Given the description of an element on the screen output the (x, y) to click on. 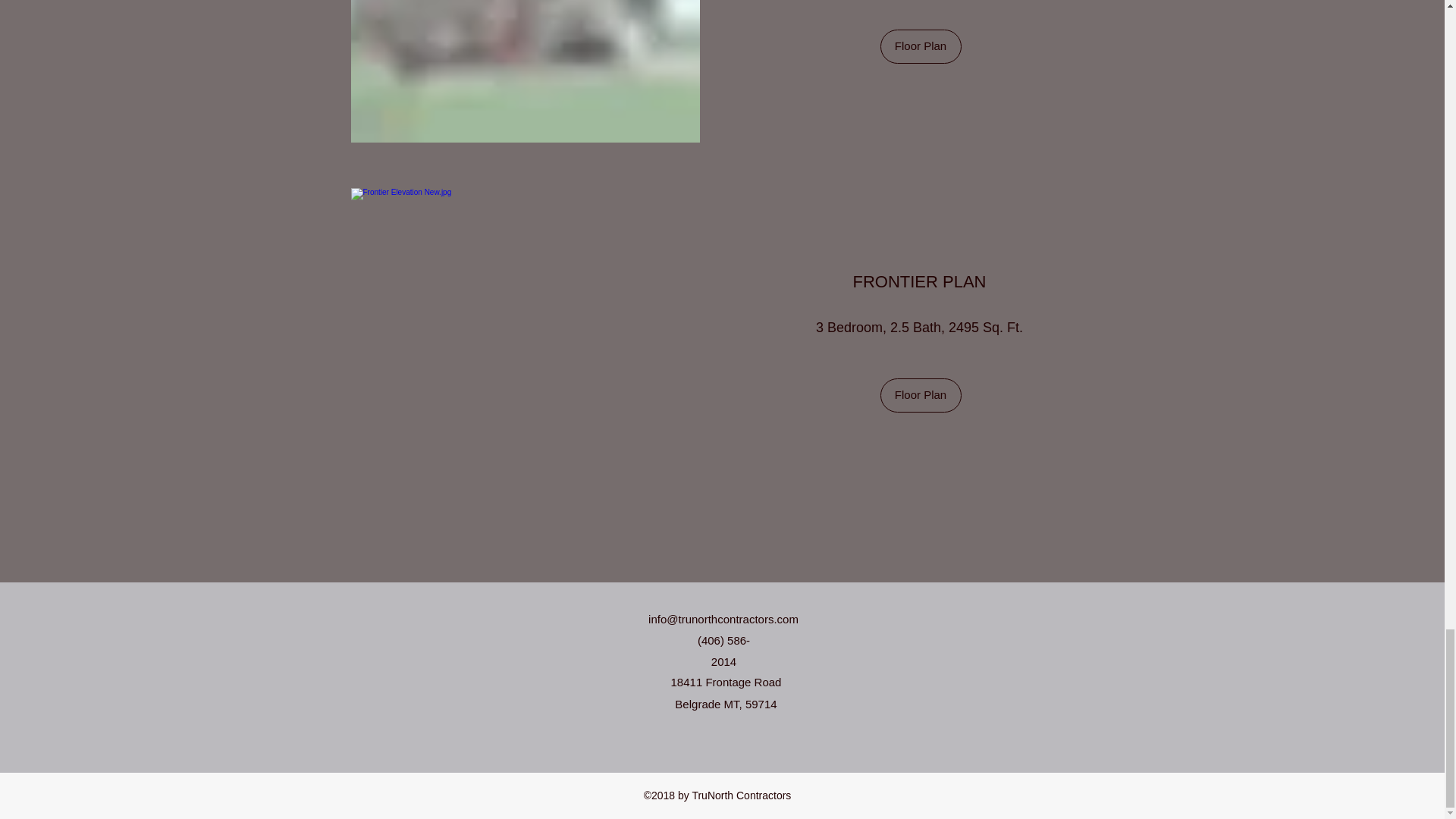
Floor Plan (919, 395)
Floor Plan (919, 46)
